Given the description of an element on the screen output the (x, y) to click on. 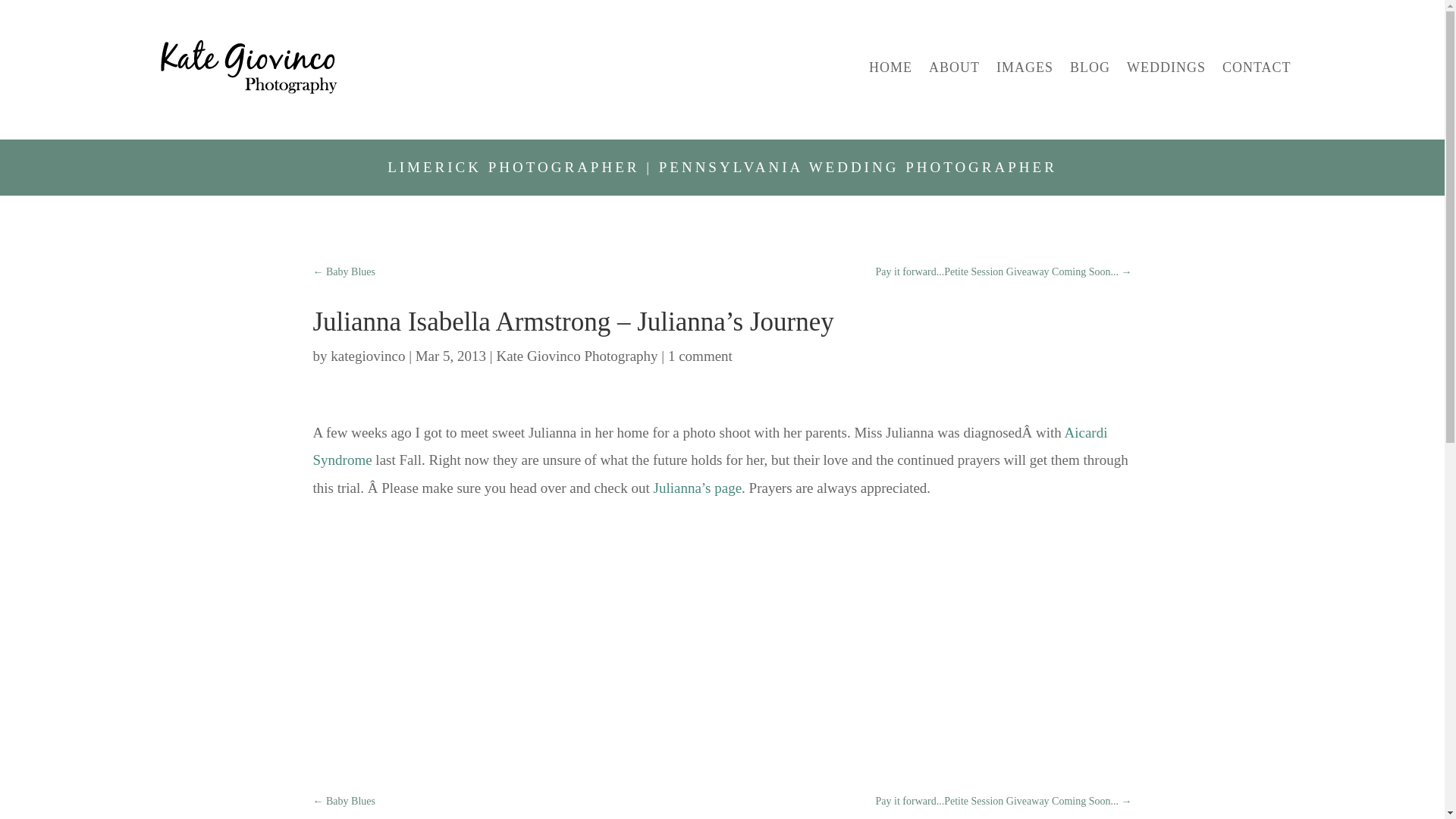
IMAGES (1023, 67)
kategiovinco (367, 355)
1 comment (700, 355)
CONTACT (1257, 67)
WEDDINGS (1165, 67)
Aicardi Syndrome (709, 446)
Posts by kategiovinco (367, 355)
Kate Giovinco Photography (577, 355)
